Given the description of an element on the screen output the (x, y) to click on. 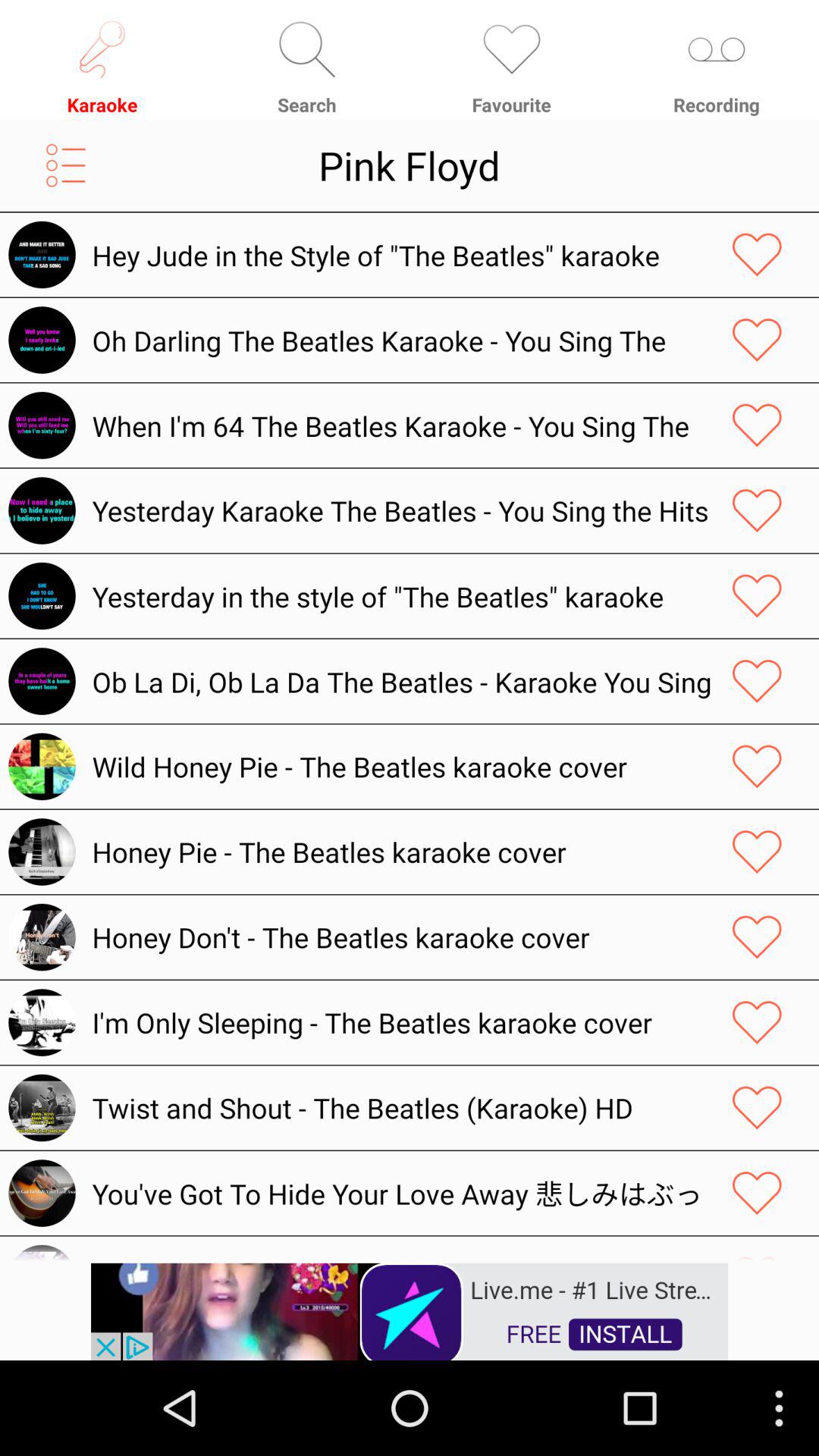
favorite adding button (756, 254)
